Given the description of an element on the screen output the (x, y) to click on. 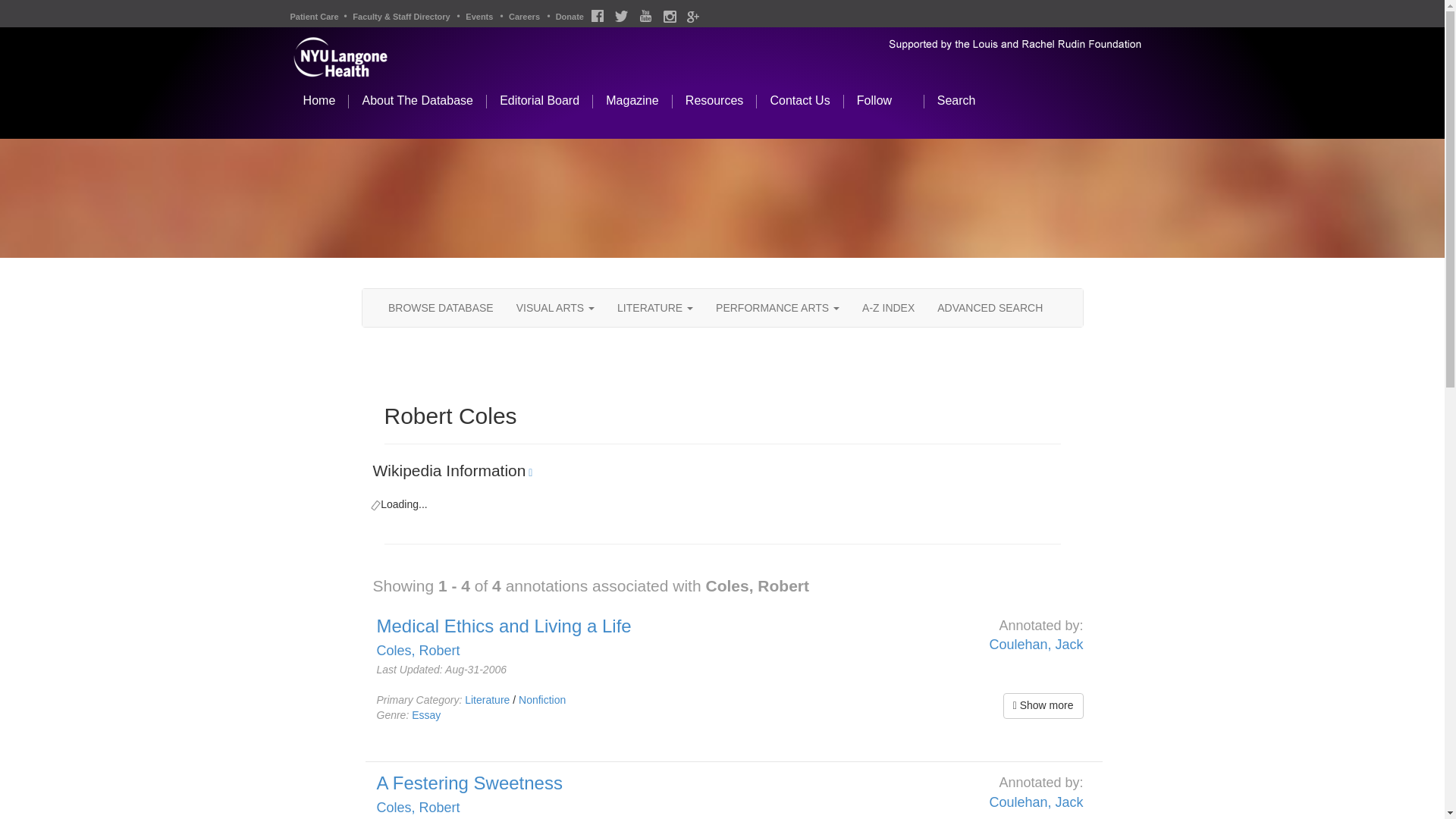
About The Database (416, 107)
Careers (524, 16)
Search (965, 107)
VISUAL ARTS (555, 307)
Follow (884, 107)
LITERATURE (654, 307)
